Given the description of an element on the screen output the (x, y) to click on. 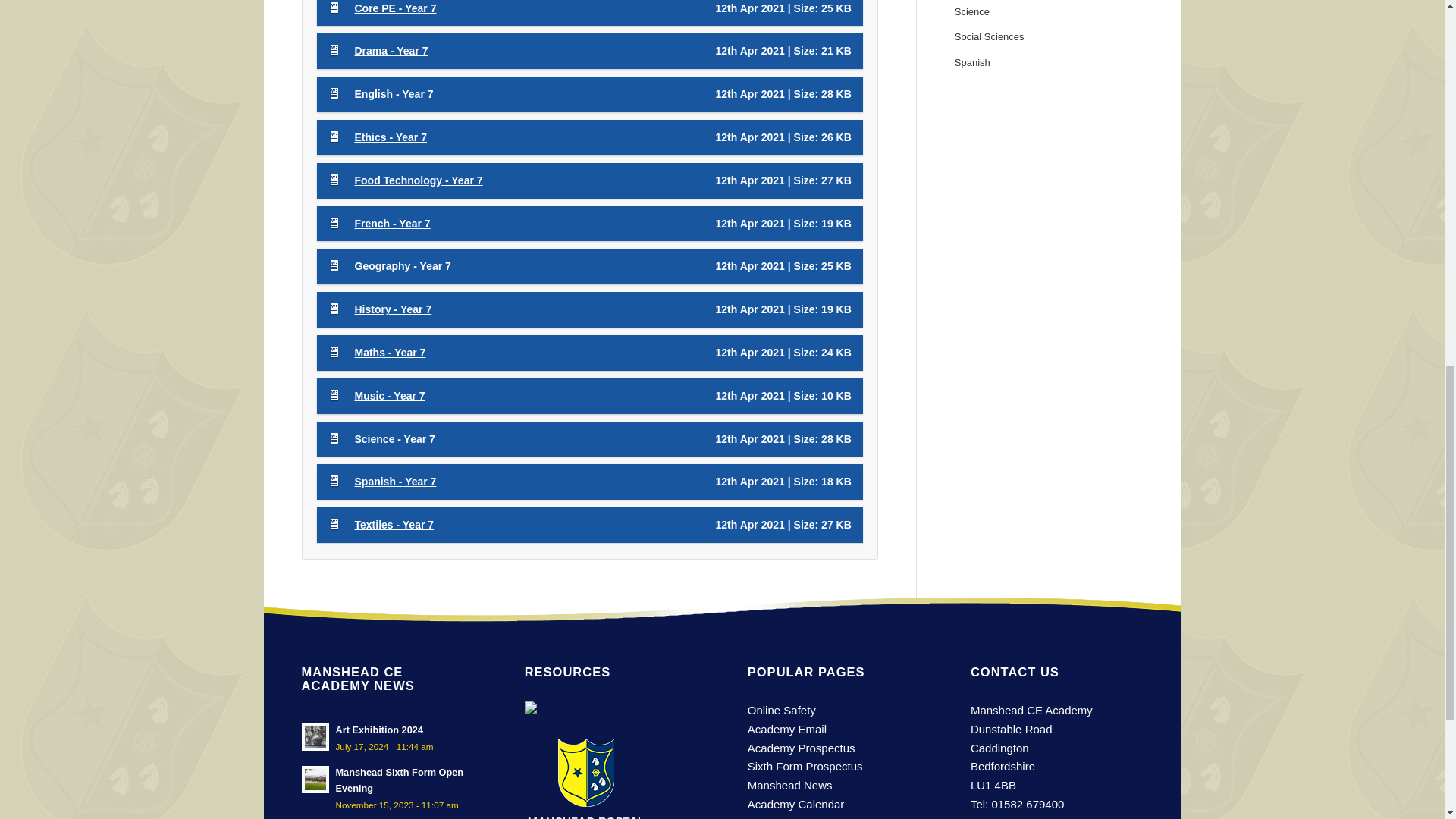
Manshead Sixth Form Open Evening (387, 788)
Art Exhibition 2024 (387, 737)
